Given the description of an element on the screen output the (x, y) to click on. 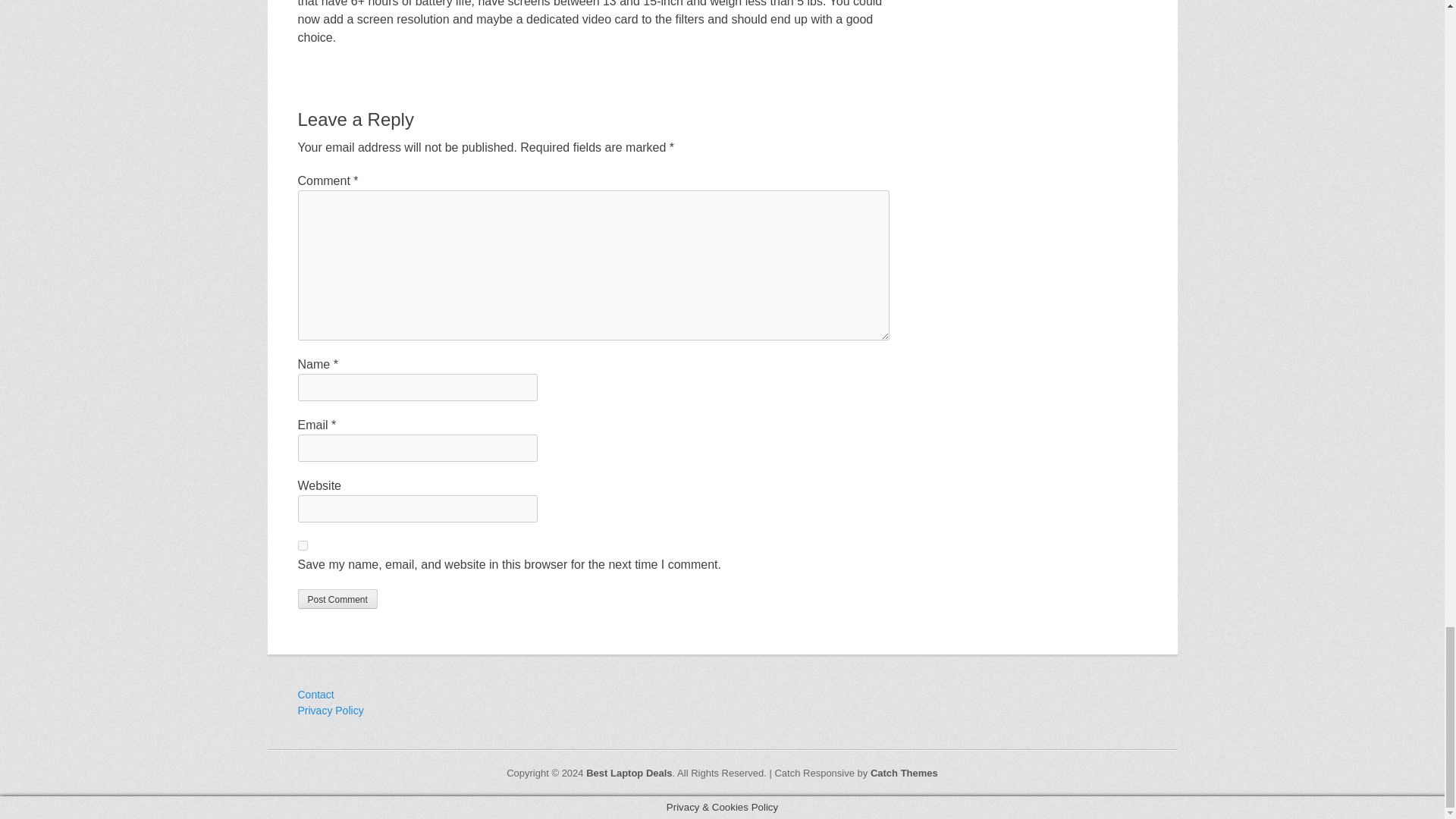
Post Comment (337, 598)
yes (302, 545)
Post Comment (337, 598)
